Given the description of an element on the screen output the (x, y) to click on. 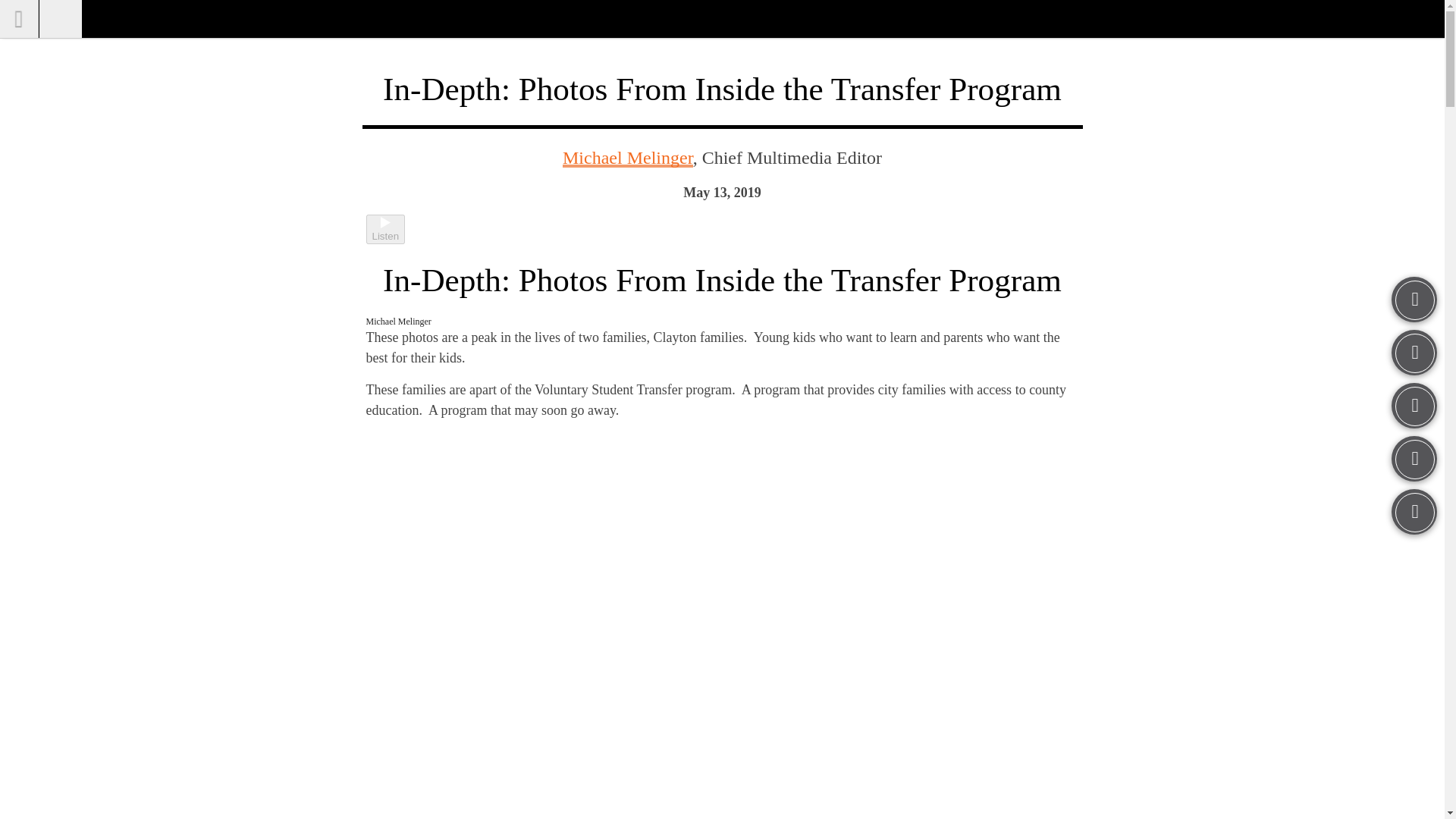
Tweet This Story (1414, 458)
Share on Facebook (1414, 405)
Share on Facebook (1414, 405)
Michael Melinger (627, 157)
Share via Email (1414, 511)
Share on X (1414, 458)
Email this Story (1414, 511)
